Given the description of an element on the screen output the (x, y) to click on. 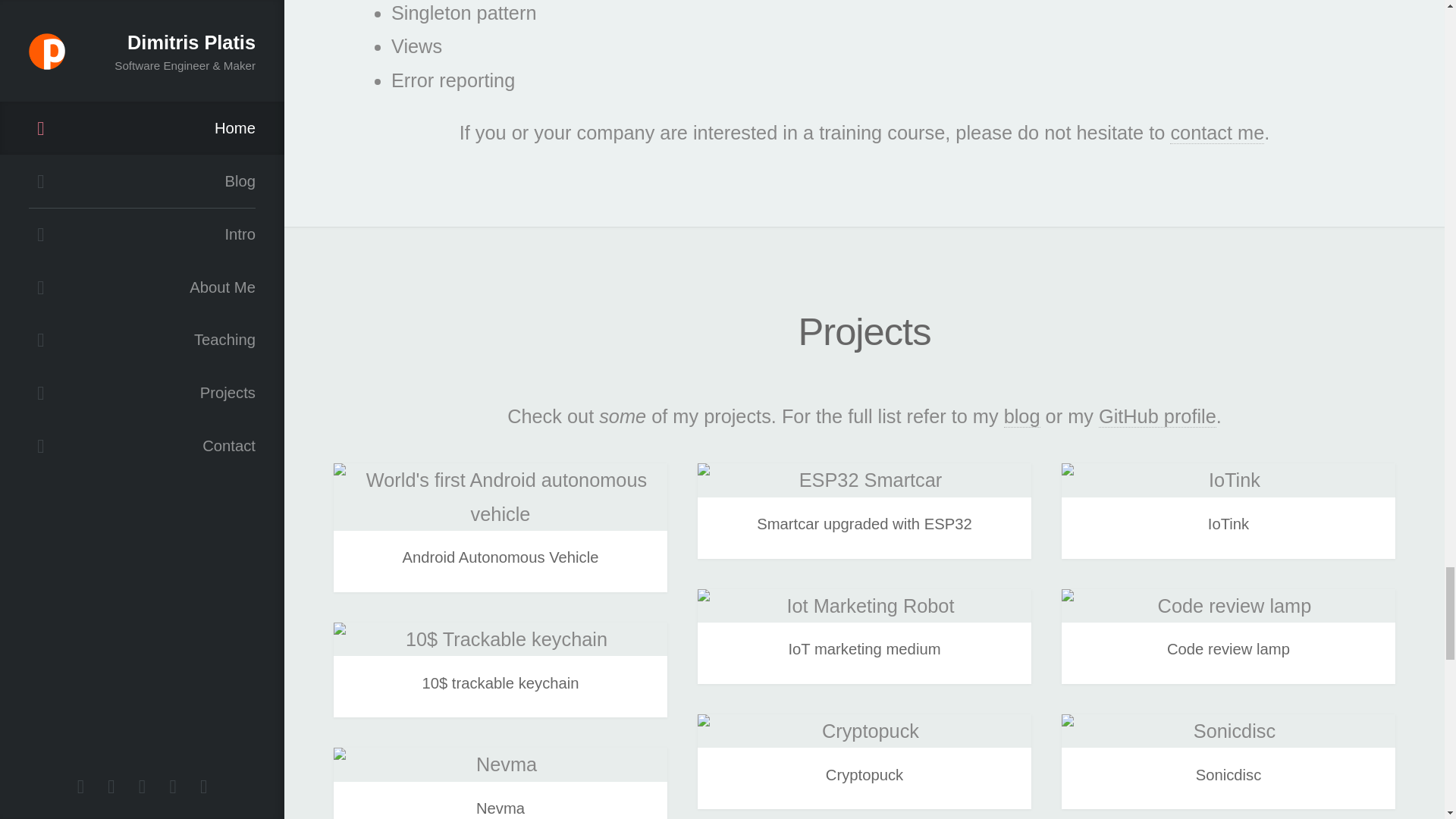
contact me (1216, 133)
blog (1022, 416)
GitHub profile (1157, 416)
